Given the description of an element on the screen output the (x, y) to click on. 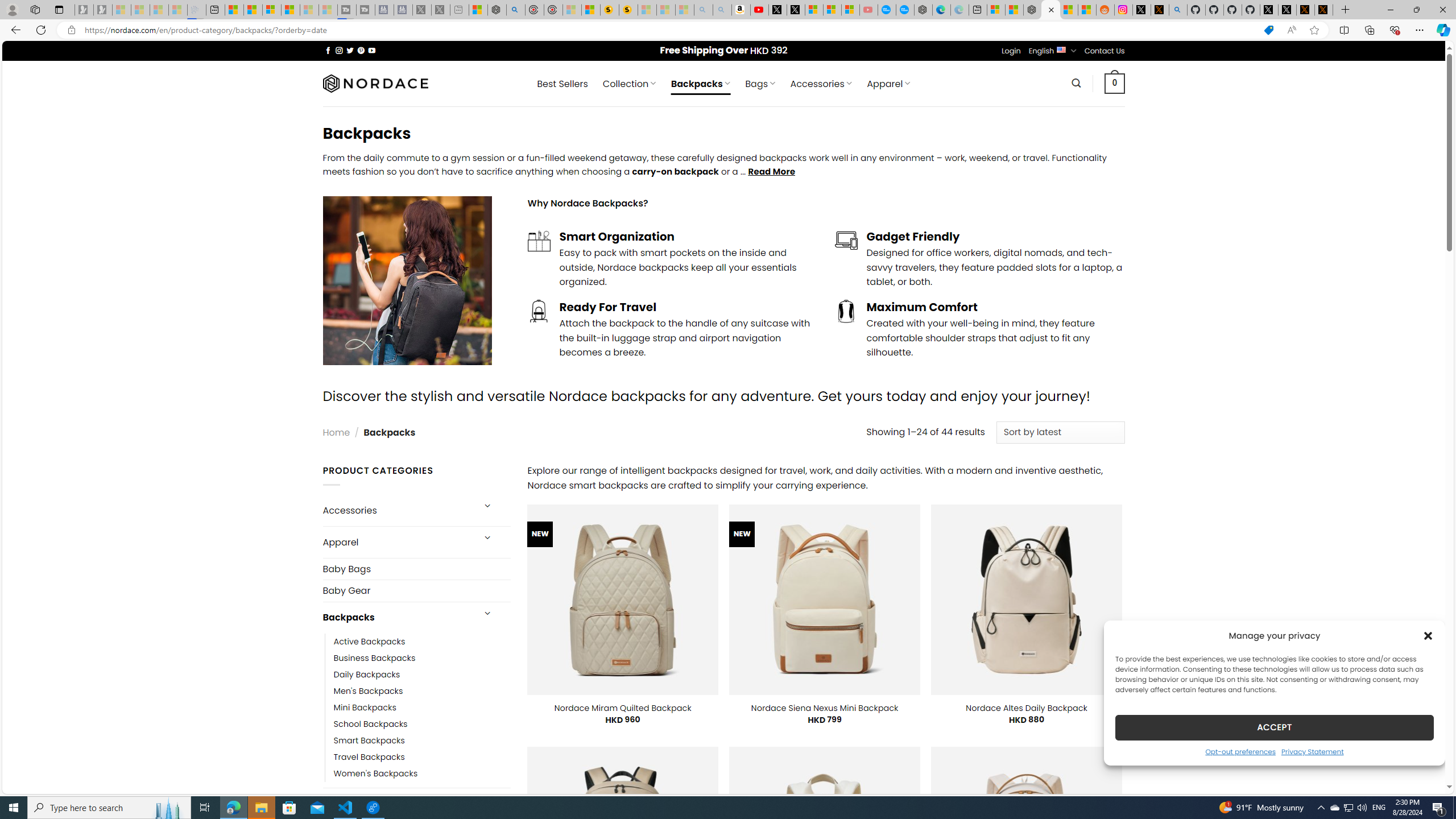
Opt-out preferences (1240, 750)
Baby Gear (416, 590)
  Best Sellers (562, 83)
poe - Search (515, 9)
amazon - Search - Sleeping (702, 9)
This site has coupons! Shopping in Microsoft Edge (1268, 29)
